Given the description of an element on the screen output the (x, y) to click on. 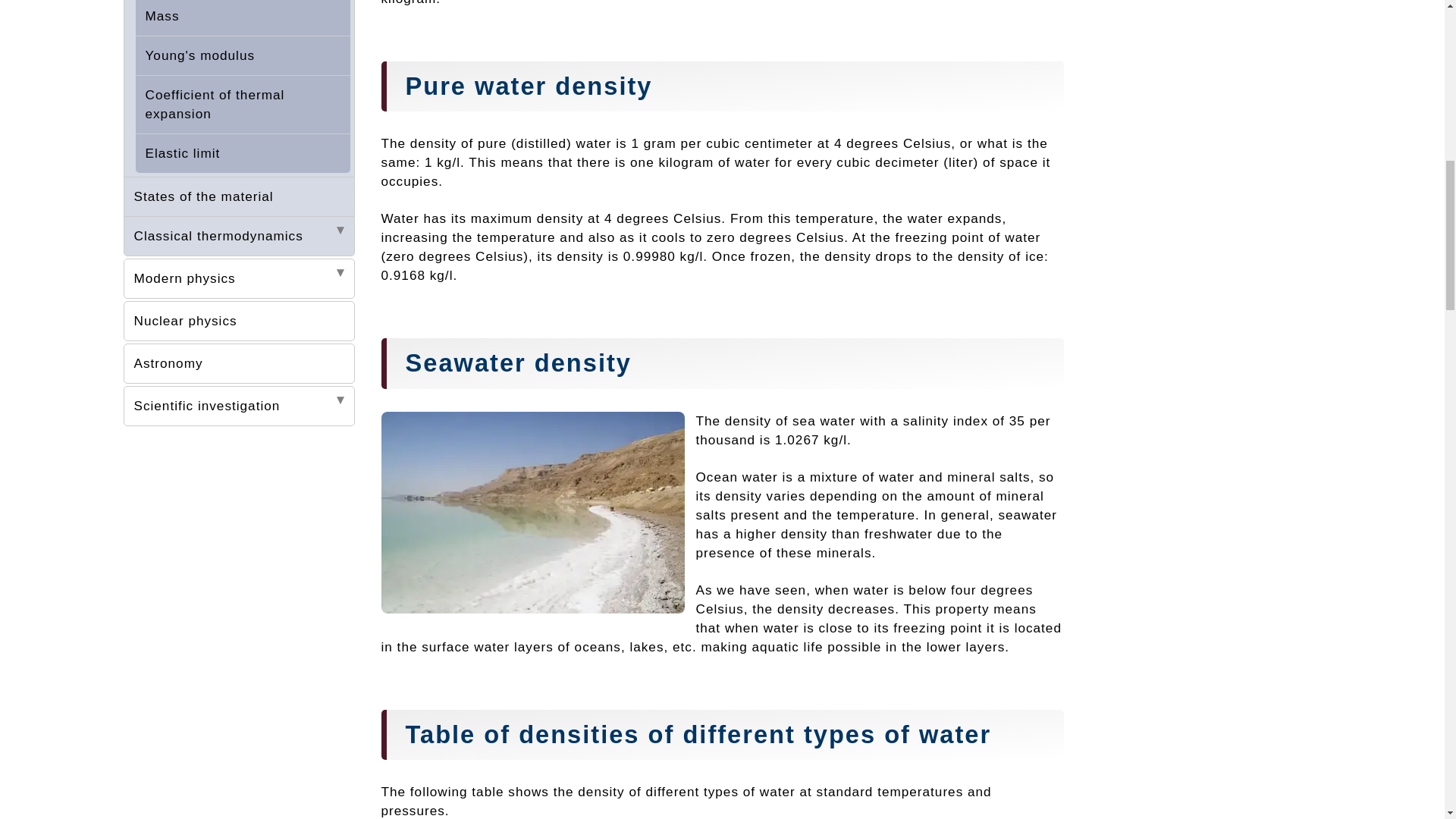
Water density in the Dead Sea (532, 512)
